Given the description of an element on the screen output the (x, y) to click on. 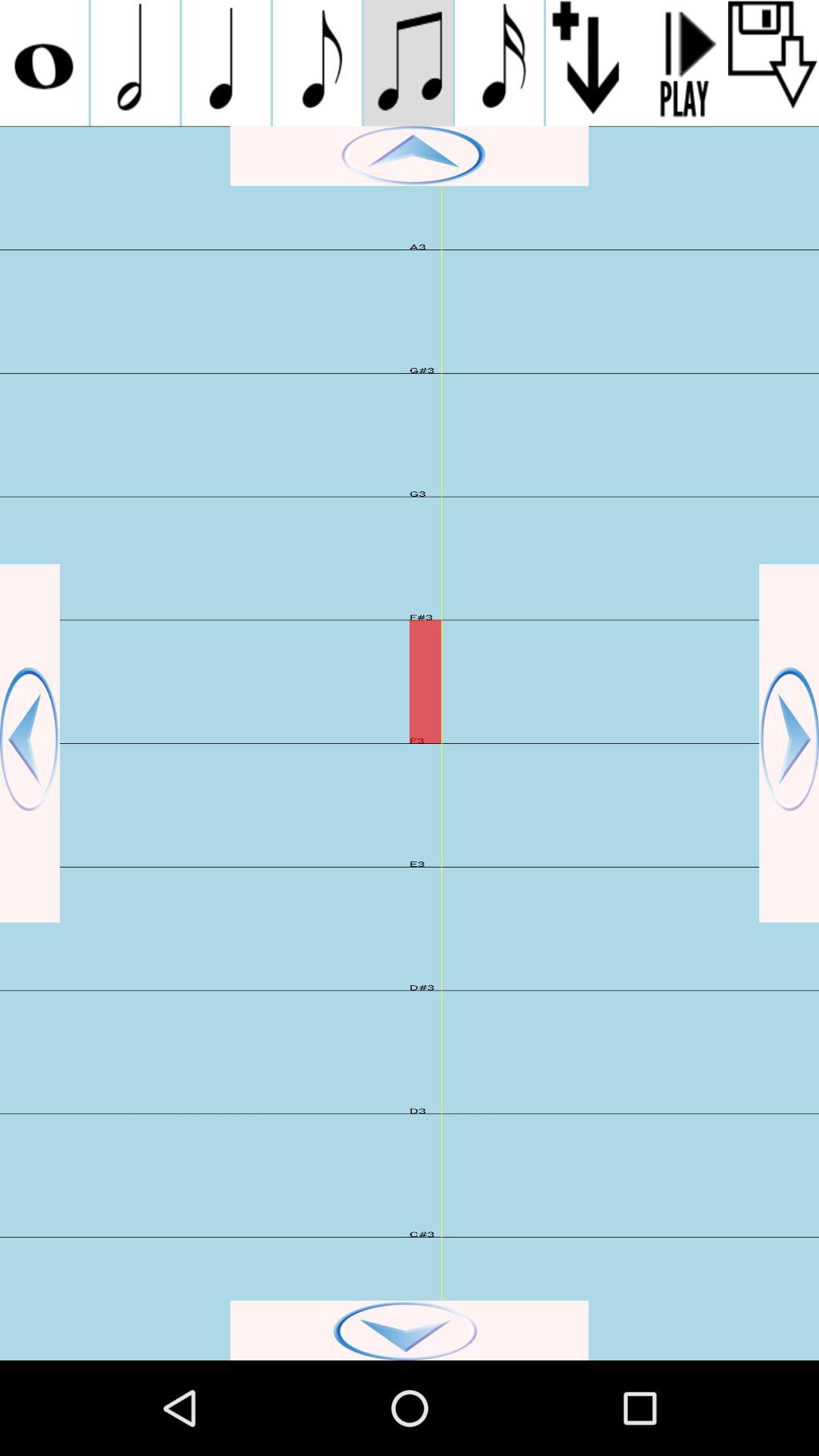
switch icon (135, 63)
